Given the description of an element on the screen output the (x, y) to click on. 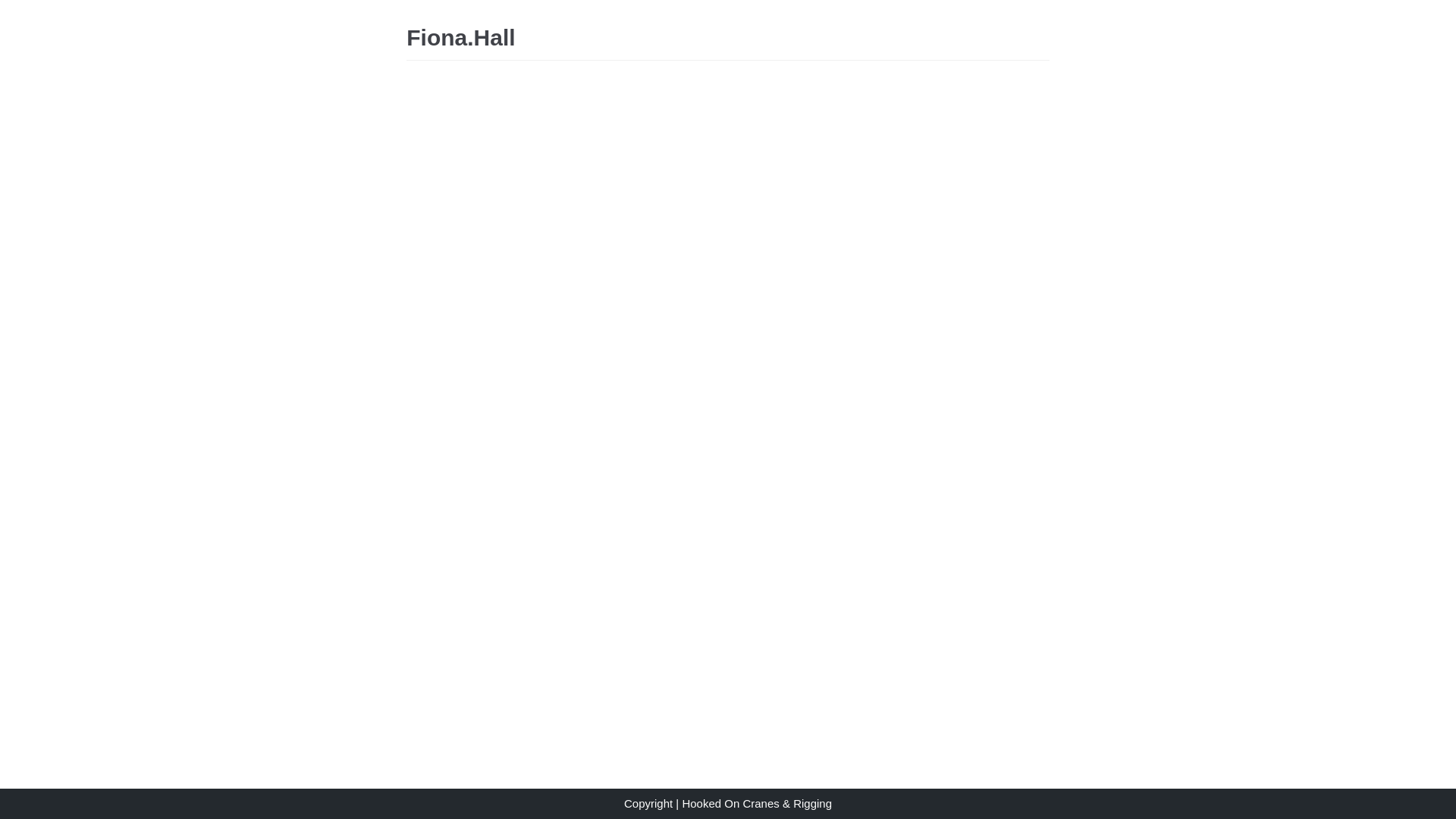
Skip to content Element type: text (15, 7)
